Given the description of an element on the screen output the (x, y) to click on. 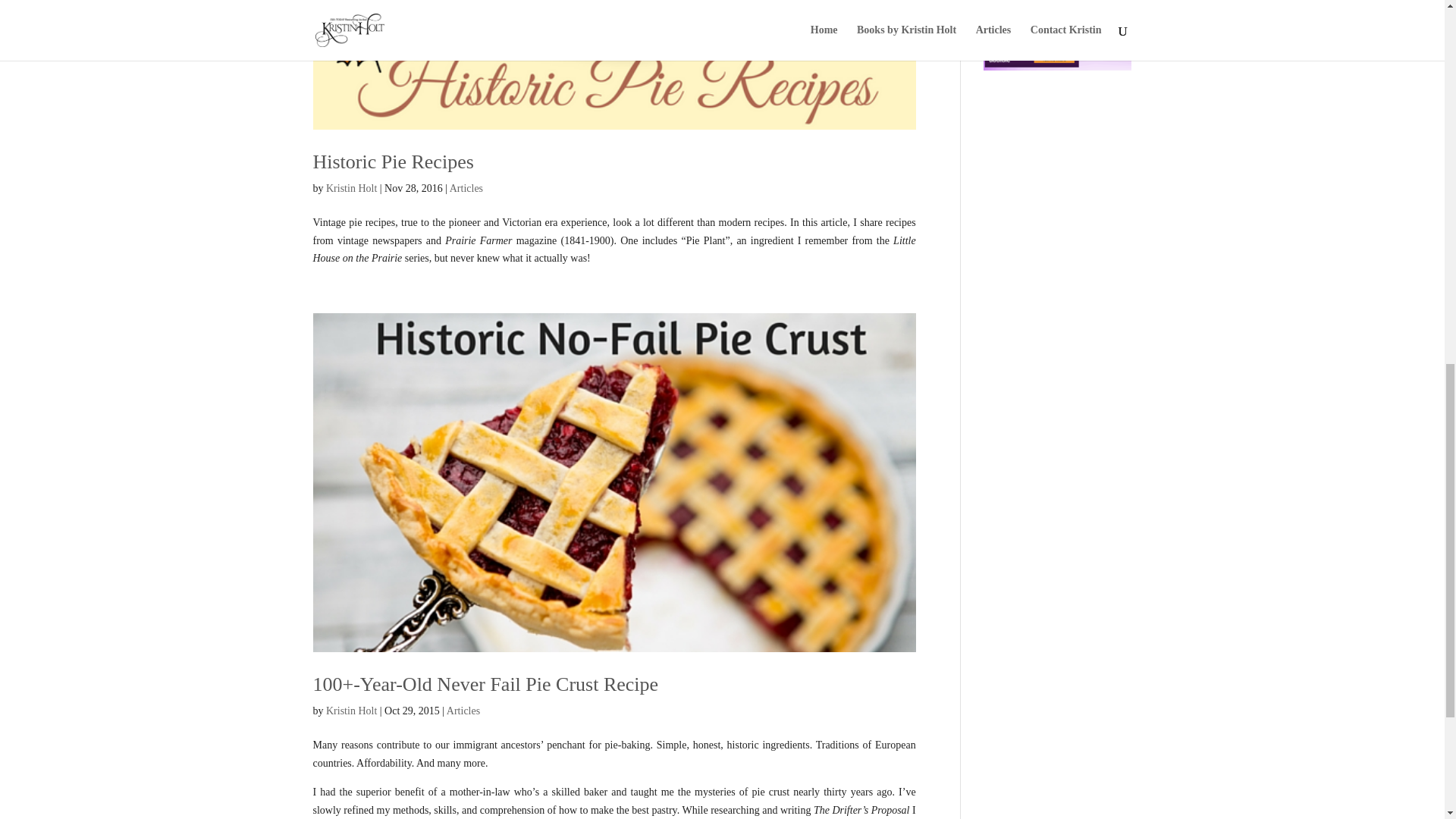
Kristin Holt (351, 188)
Articles (463, 710)
Posts by Kristin Holt (351, 188)
Historic Pie Recipes (393, 161)
Kristin Holt (351, 710)
Articles (466, 188)
Posts by Kristin Holt (351, 710)
